Given the description of an element on the screen output the (x, y) to click on. 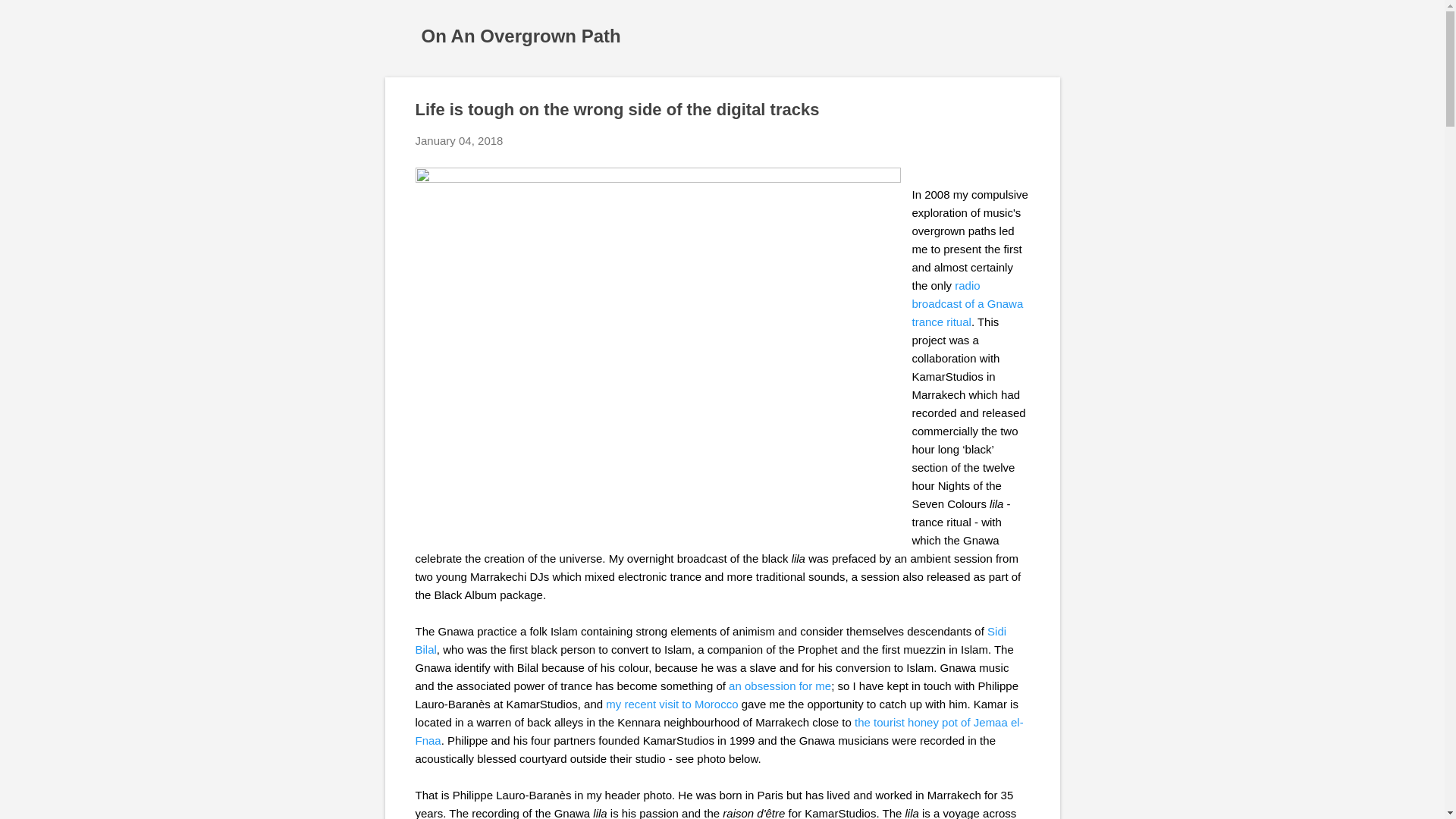
my recent visit to Morocco (671, 703)
Sidi Bilal (710, 640)
the tourist honey pot of Jemaa el-Fnaa (718, 730)
On An Overgrown Path (521, 35)
radio broadcast of a Gnawa trance ritual (967, 303)
an obsession for me (780, 685)
permanent link (458, 140)
Search (29, 18)
January 04, 2018 (458, 140)
